Given the description of an element on the screen output the (x, y) to click on. 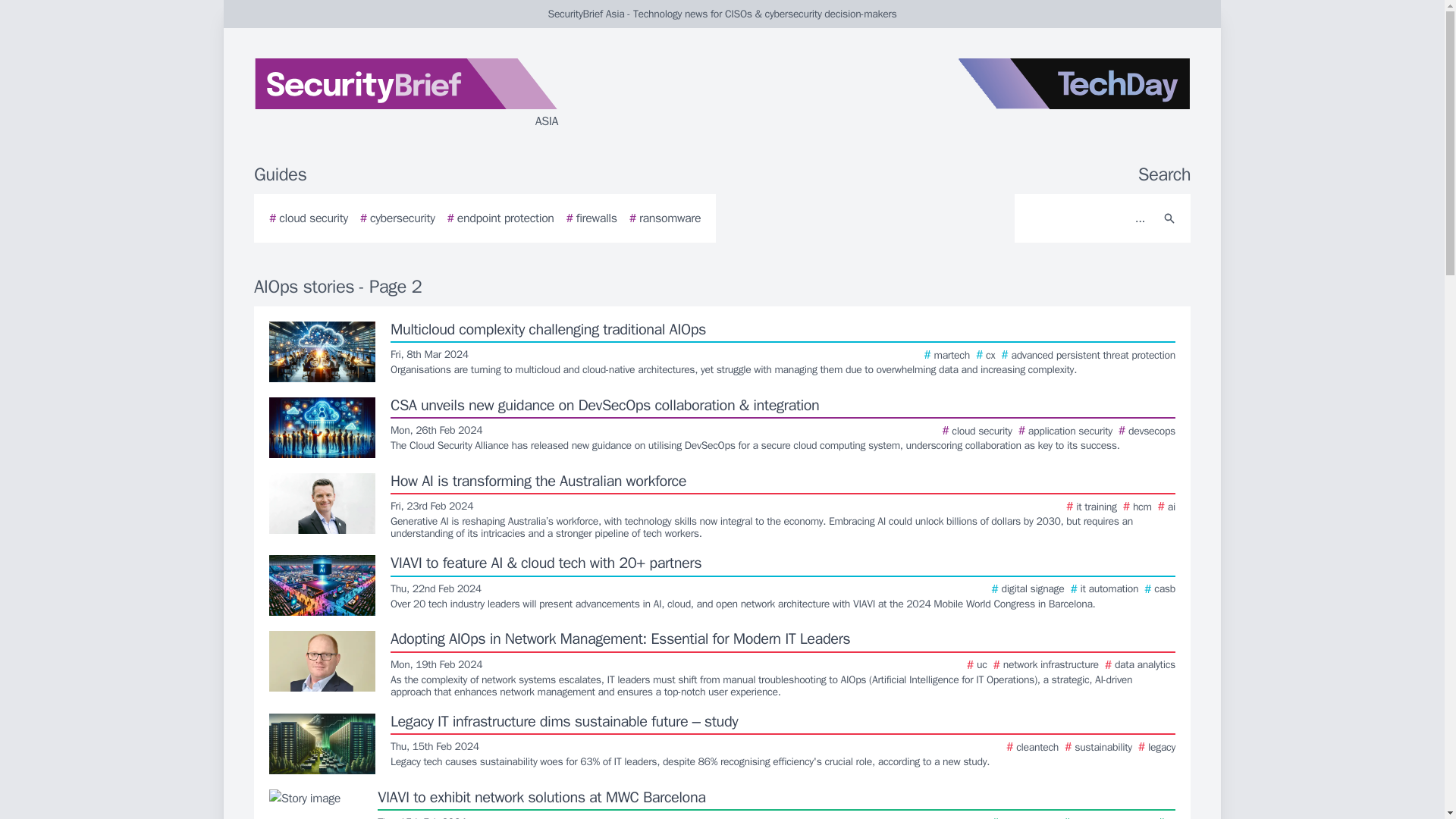
ASIA (435, 94)
